Given the description of an element on the screen output the (x, y) to click on. 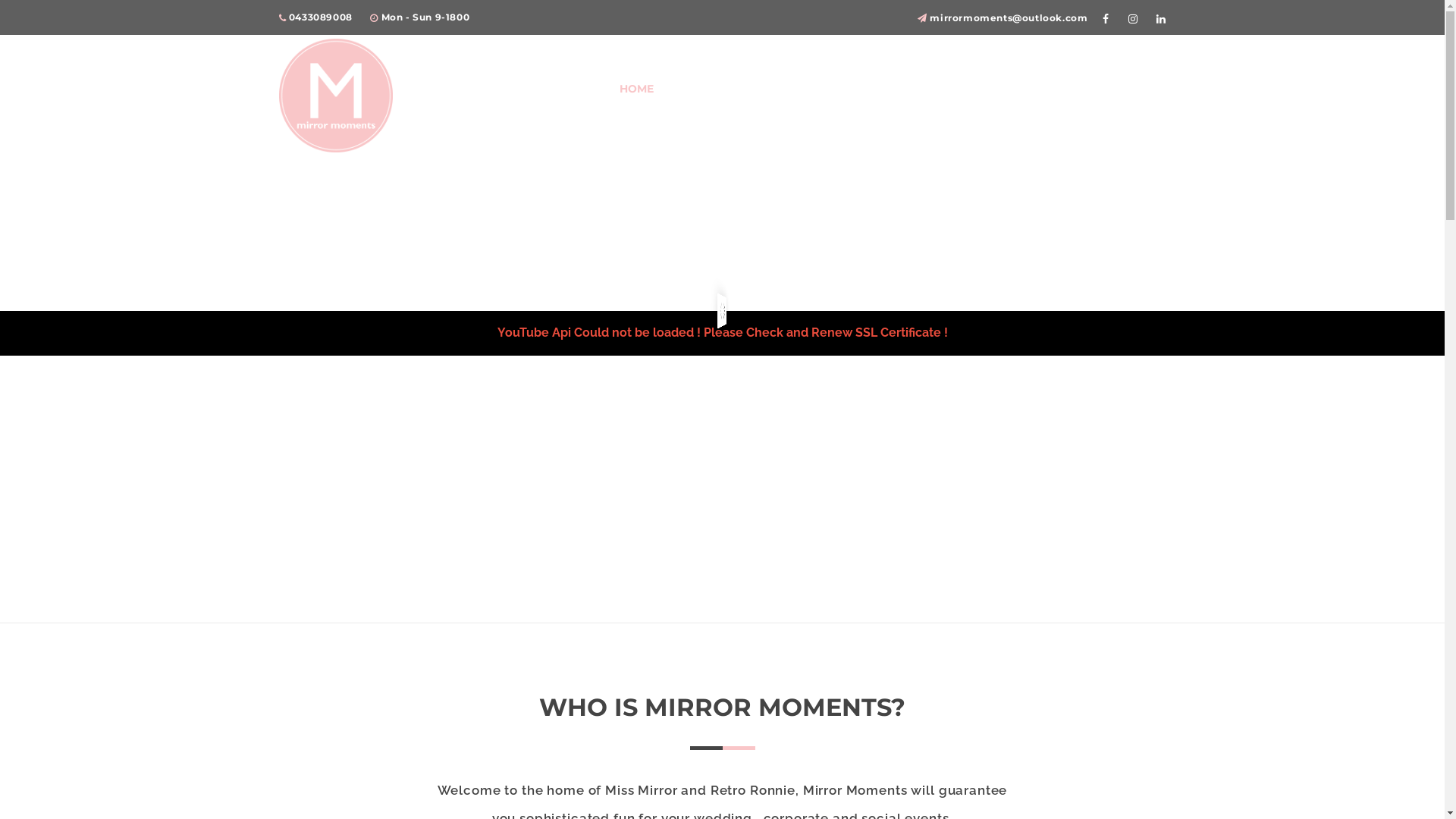
PAYMENTS AND CANCELLATIONS Element type: text (1072, 88)
CONTACT US Element type: text (811, 88)
PACKAGES Element type: text (714, 88)
BACKDROPS Element type: text (914, 88)
HOME Element type: text (635, 88)
